Given the description of an element on the screen output the (x, y) to click on. 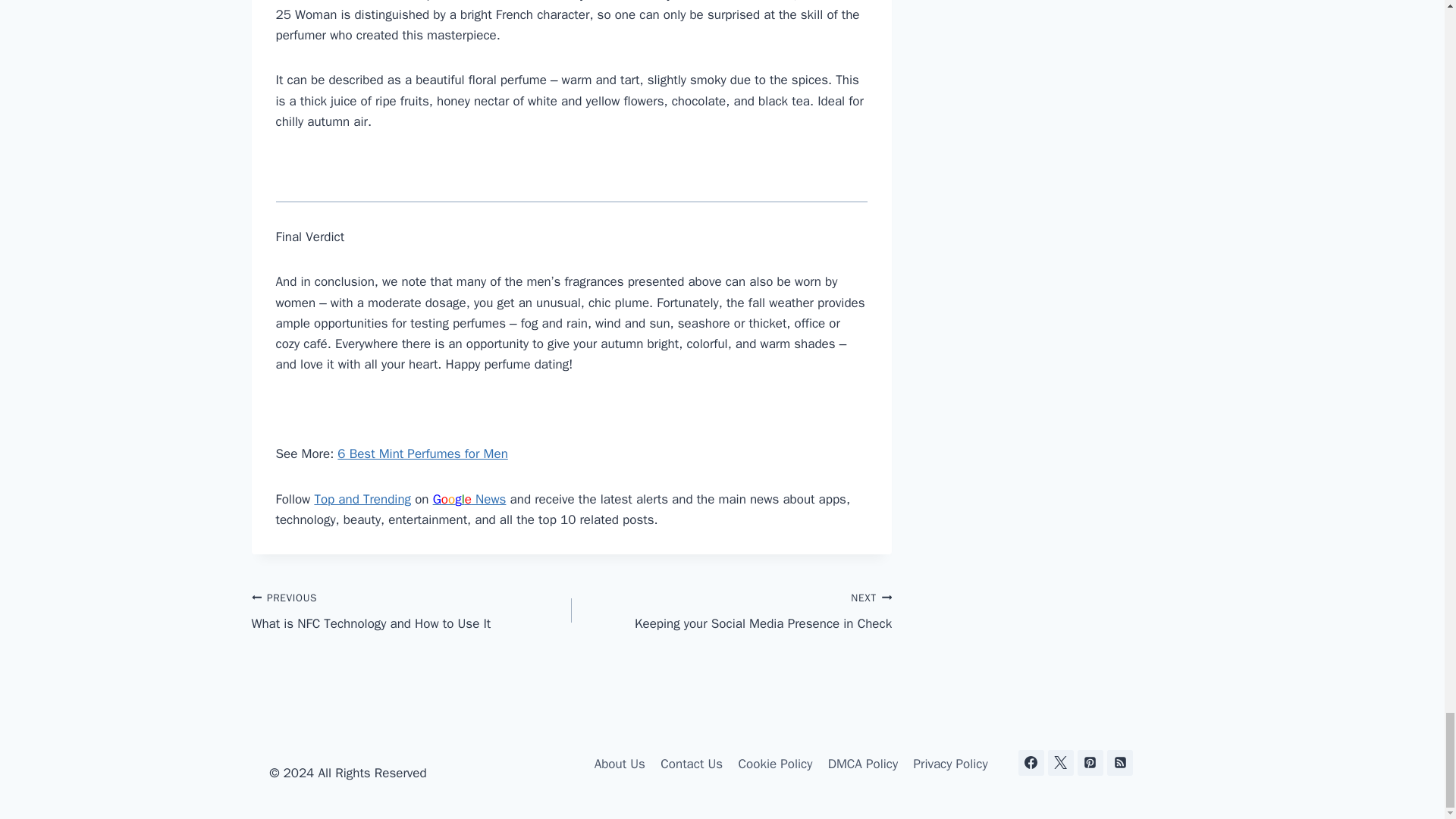
Google News (469, 498)
6 Best Mint Perfumes for Men (421, 453)
Top and Trending (362, 498)
